Given the description of an element on the screen output the (x, y) to click on. 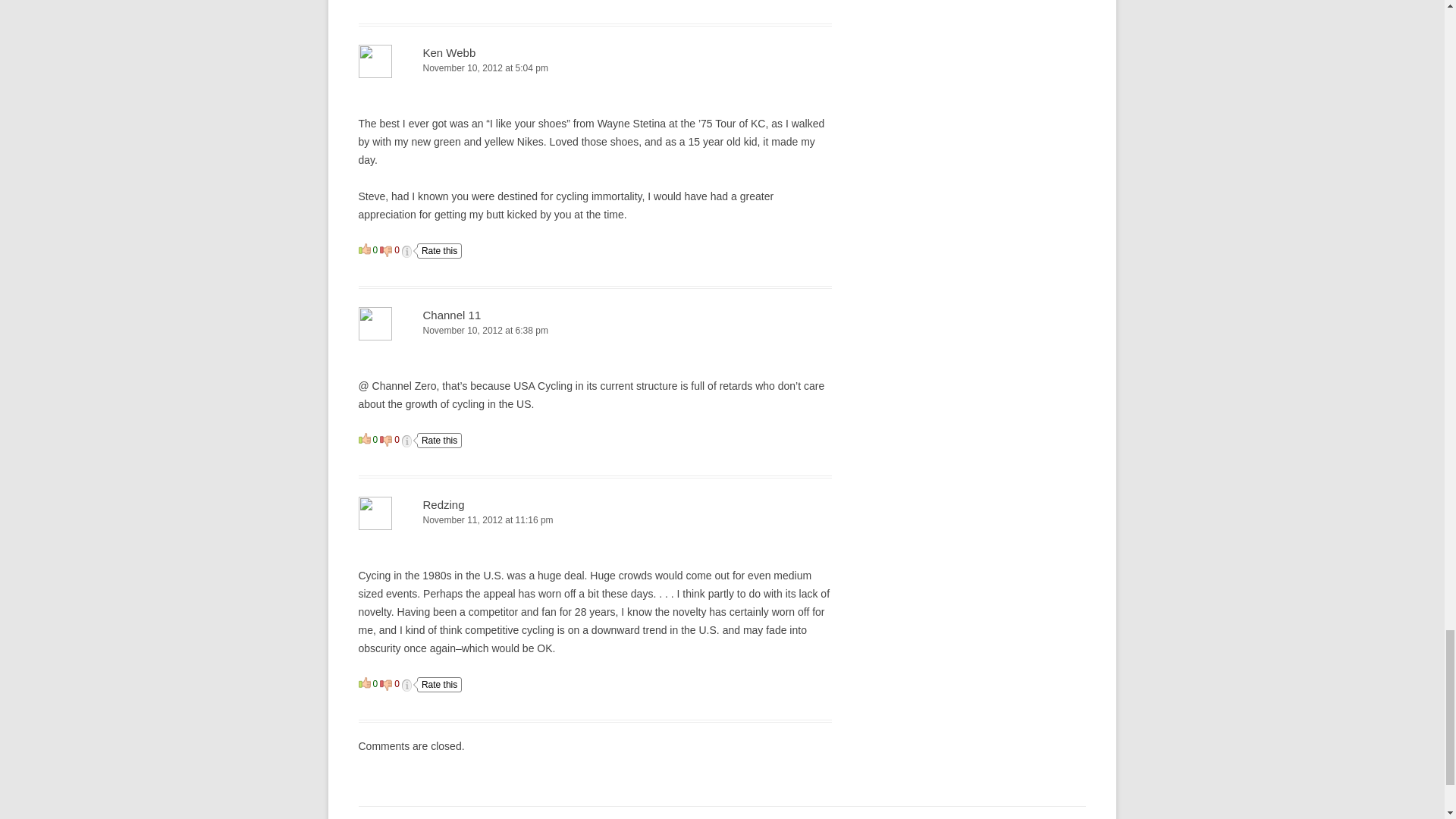
November 10, 2012 at 5:04 pm (594, 68)
November 10, 2012 at 6:38 pm (594, 330)
November 11, 2012 at 11:16 pm (594, 520)
